Given the description of an element on the screen output the (x, y) to click on. 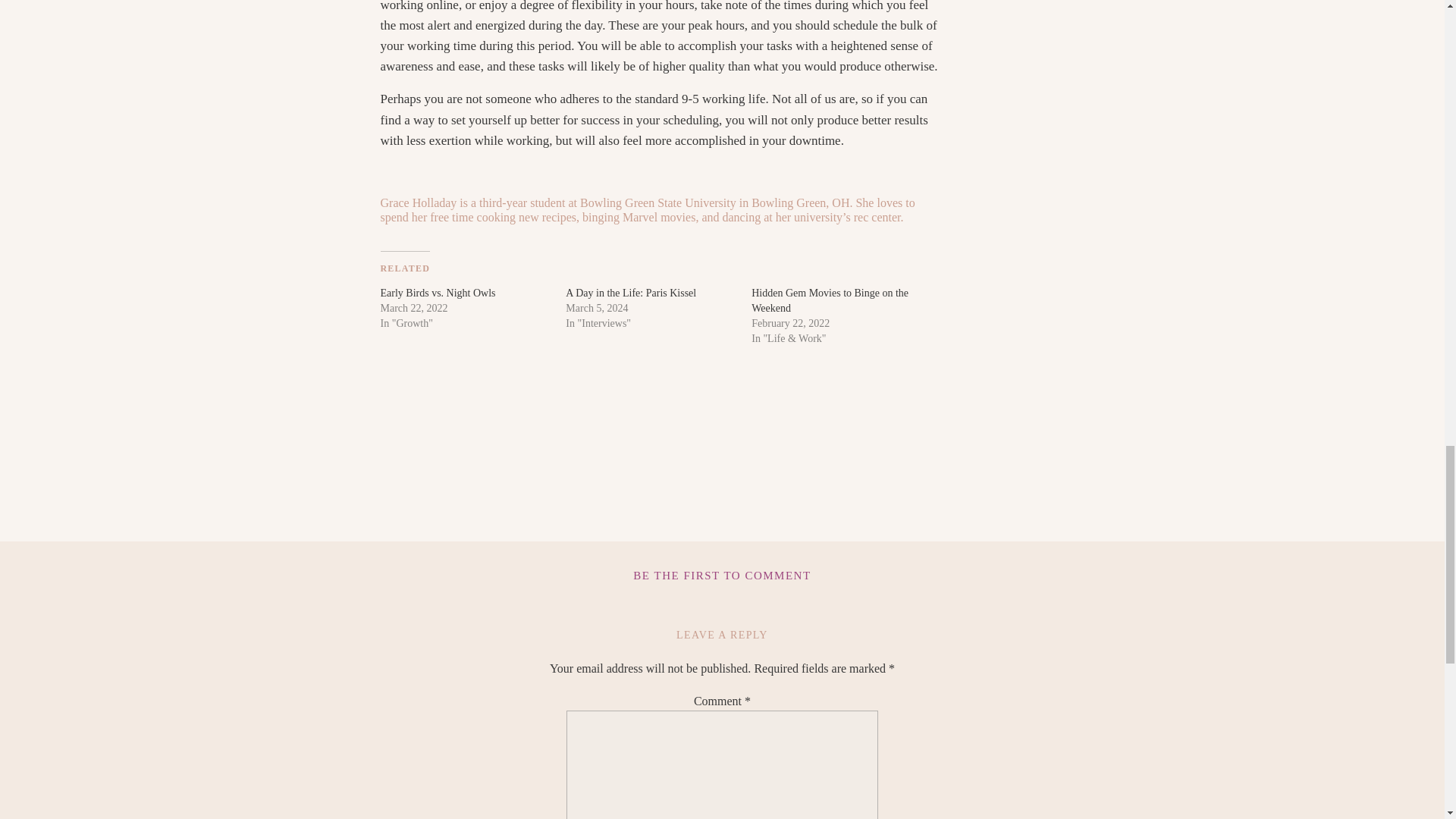
Early Birds vs. Night Owls (438, 292)
A Day in the Life: Paris Kissel (630, 292)
Hidden Gem Movies to Binge on the Weekend (829, 300)
